Given the description of an element on the screen output the (x, y) to click on. 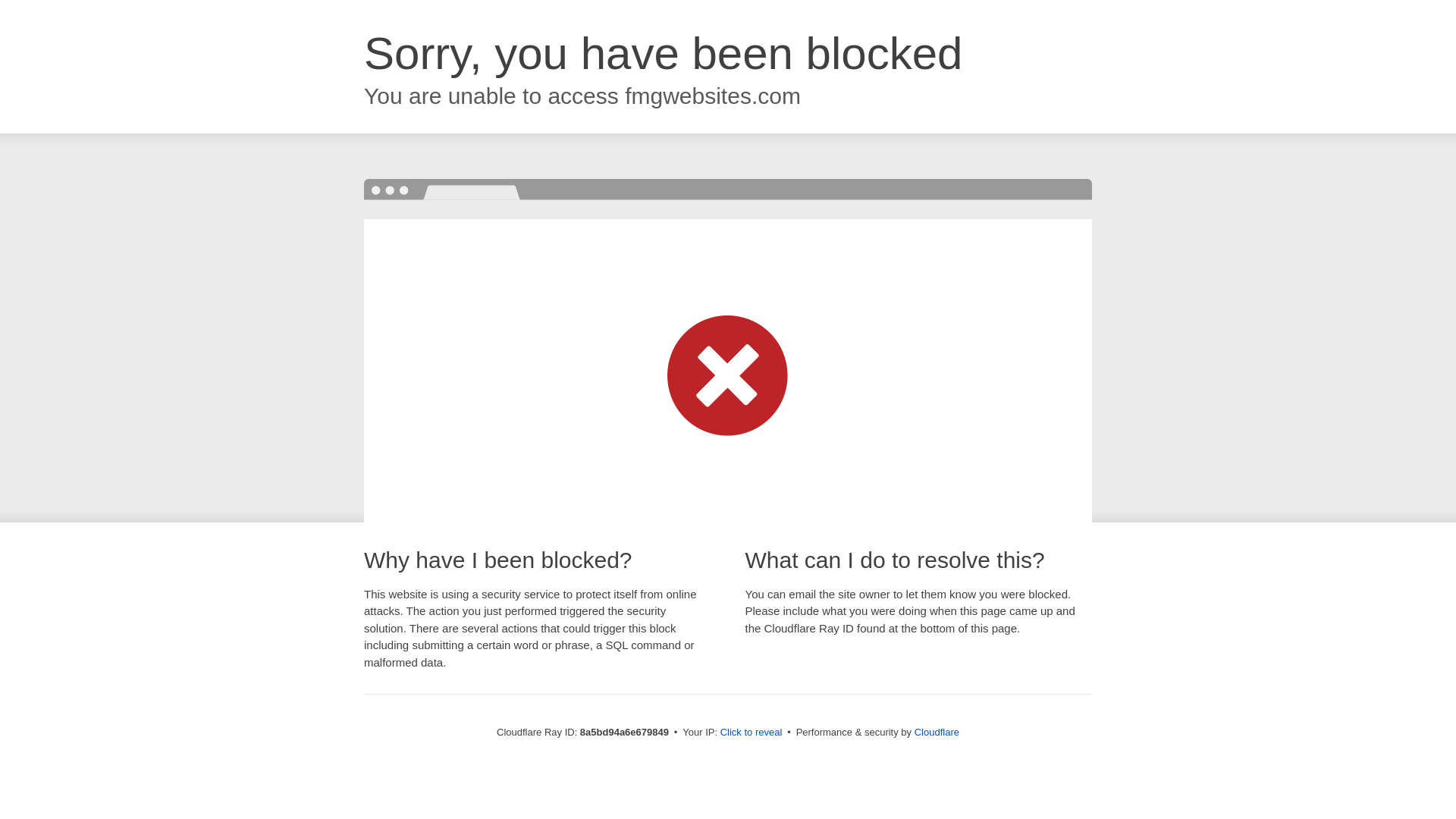
Click to reveal (751, 732)
Cloudflare (936, 731)
